Given the description of an element on the screen output the (x, y) to click on. 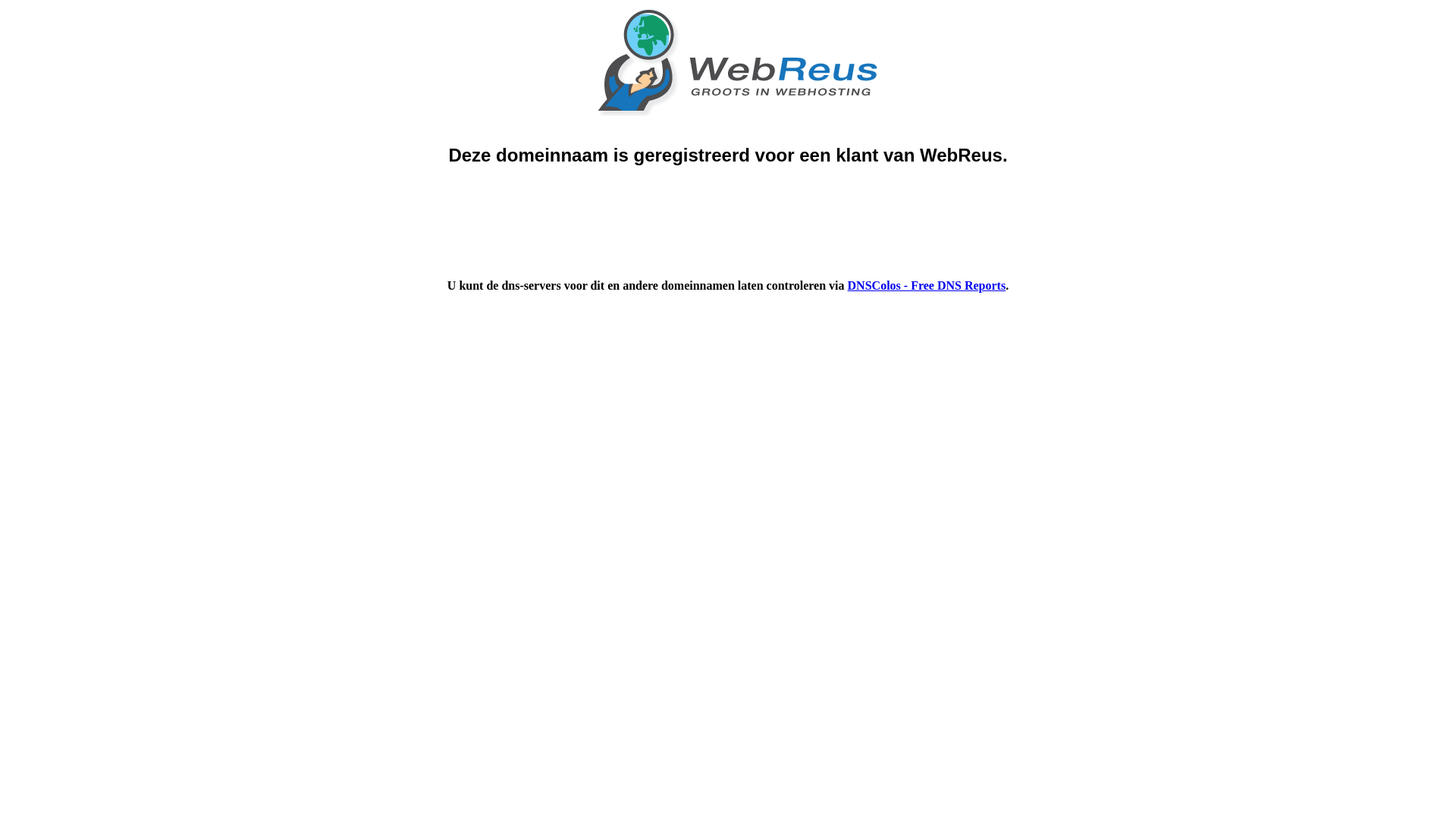
DNSColos - Free DNS Reports Element type: text (926, 285)
